Given the description of an element on the screen output the (x, y) to click on. 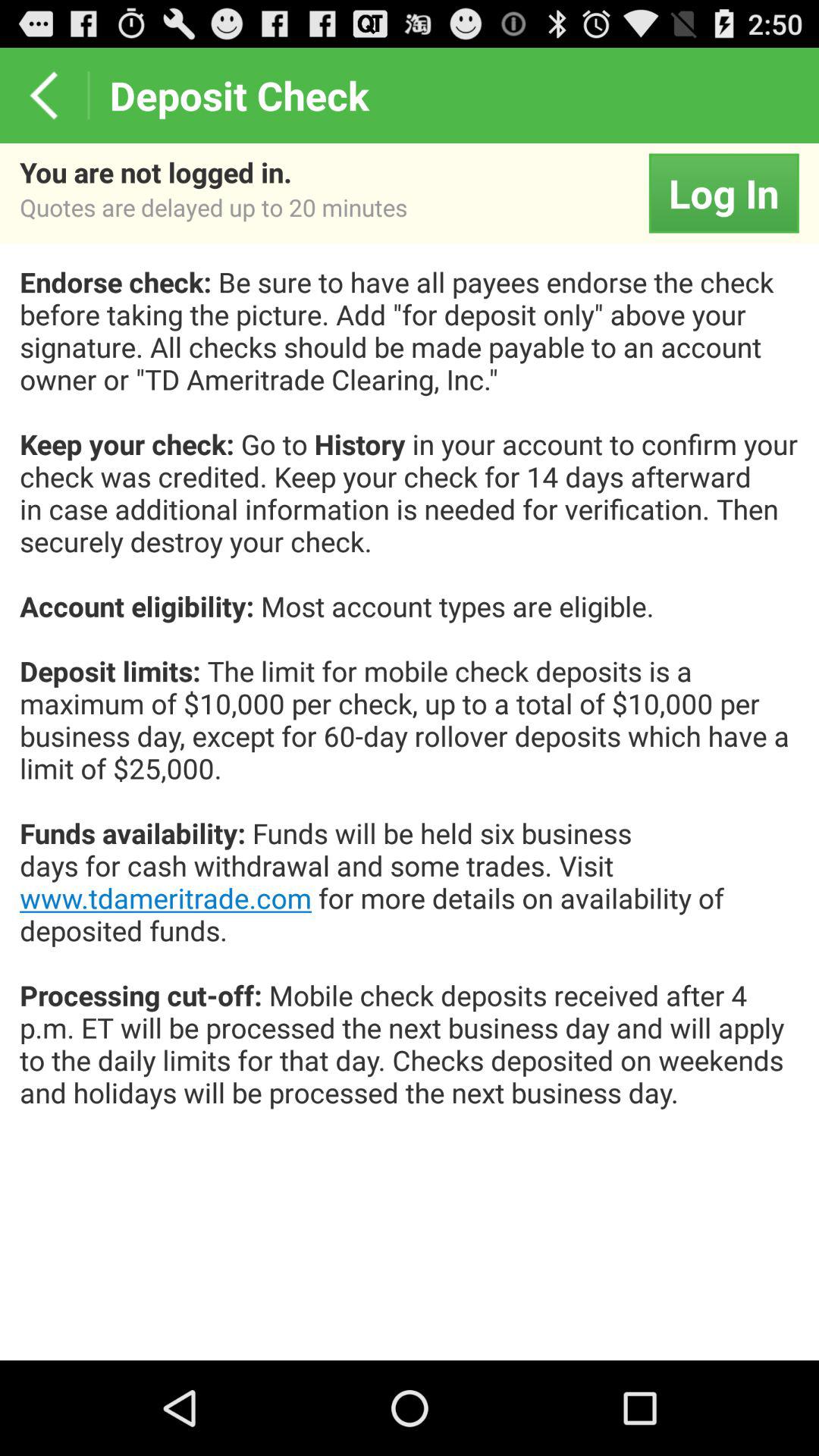
turn on the icon at the center (409, 703)
